Given the description of an element on the screen output the (x, y) to click on. 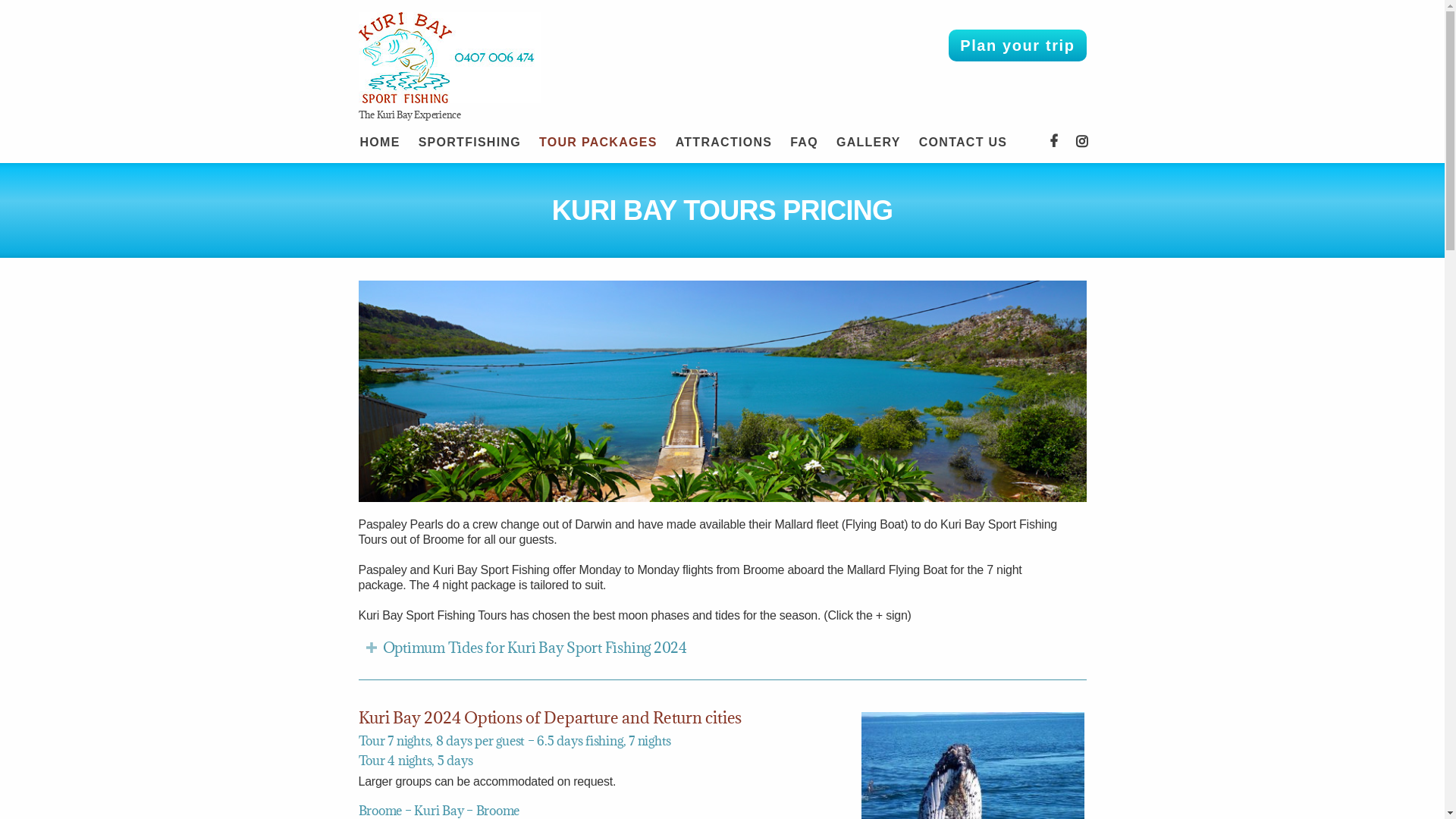
GALLERY Element type: text (868, 143)
SPORTFISHING Element type: text (469, 143)
TOUR PACKAGES Element type: text (598, 143)
HOME Element type: text (379, 143)
Plan your trip Element type: text (1016, 45)
FAQ Element type: text (804, 143)
CONTACT US Element type: text (963, 143)
ATTRACTIONS Element type: text (723, 143)
